Given the description of an element on the screen output the (x, y) to click on. 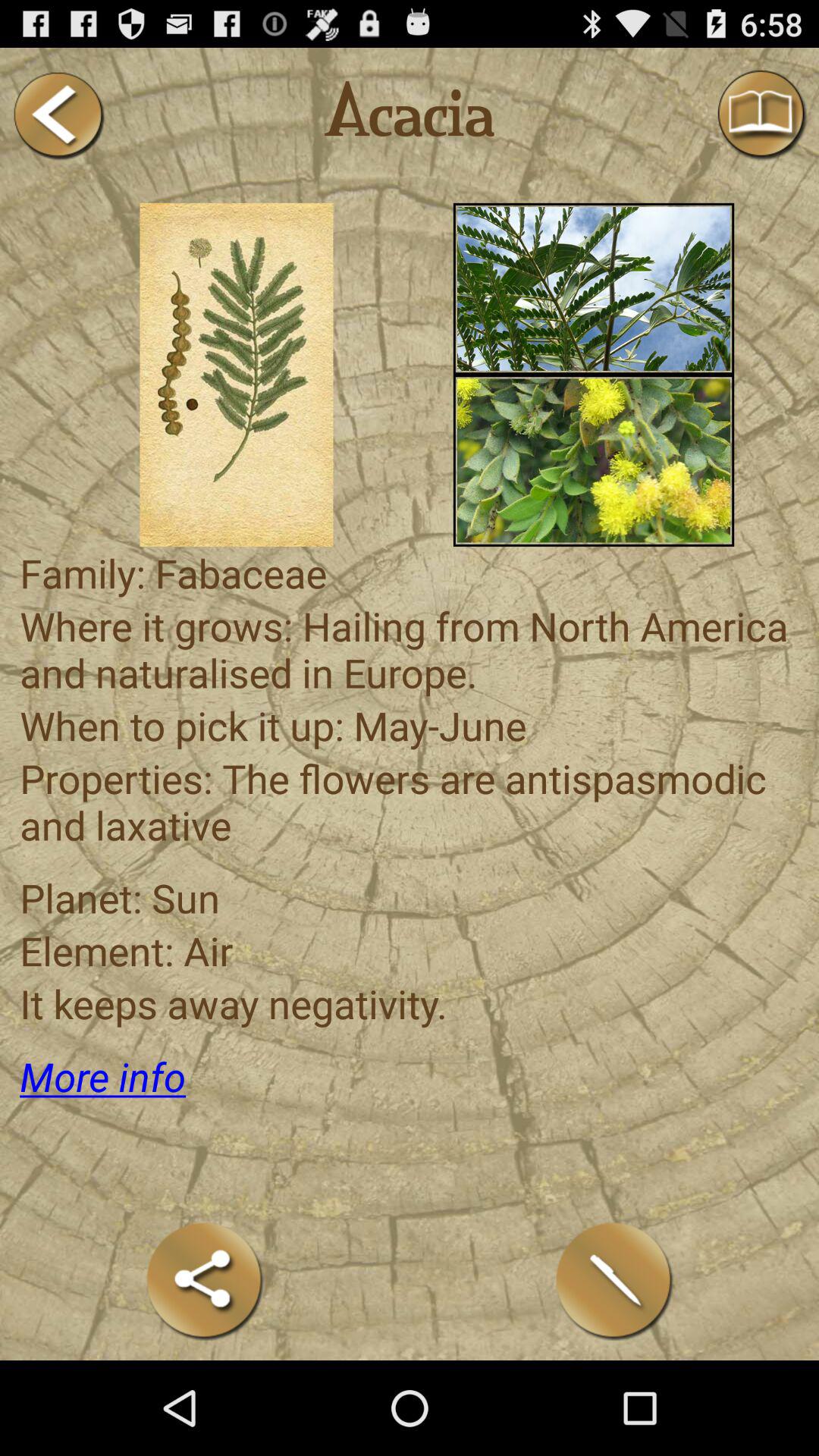
advertisement (593, 460)
